Given the description of an element on the screen output the (x, y) to click on. 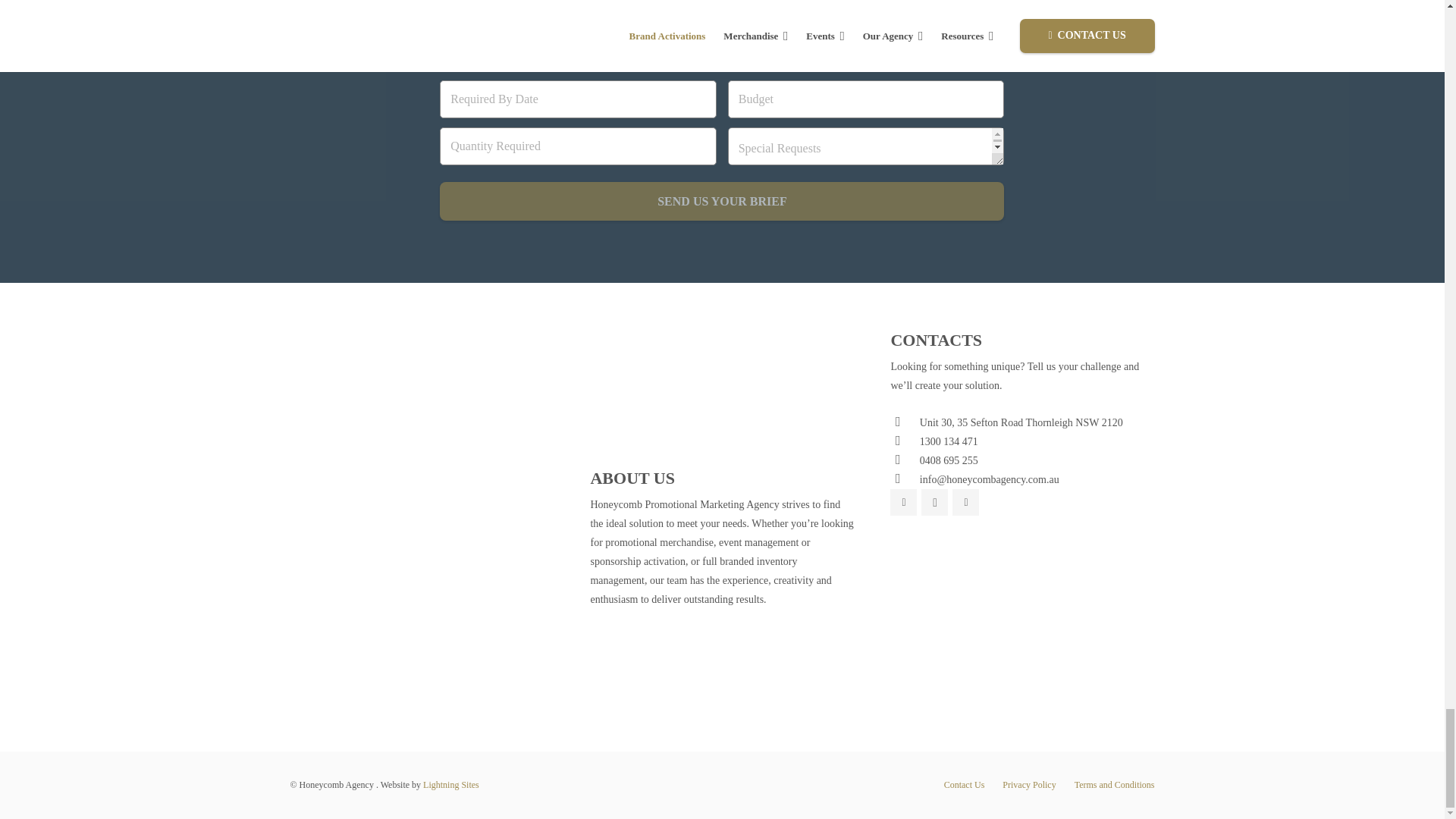
YouTube (965, 501)
APPApng (509, 471)
Awards-2019-W-Sustainable-Eco (421, 419)
2020AppaAward-Winner-removebg (509, 360)
Instagram (934, 501)
ppaipng (421, 471)
Distributor Self-Promotion Winner 2022 logo (333, 360)
Facebook (903, 501)
Membership Banner-600x150px-150DPI (421, 531)
Awards-2019-2nd-Event-Merchandise (509, 419)
Social-FINALIST-BADGE (333, 419)
